Given the description of an element on the screen output the (x, y) to click on. 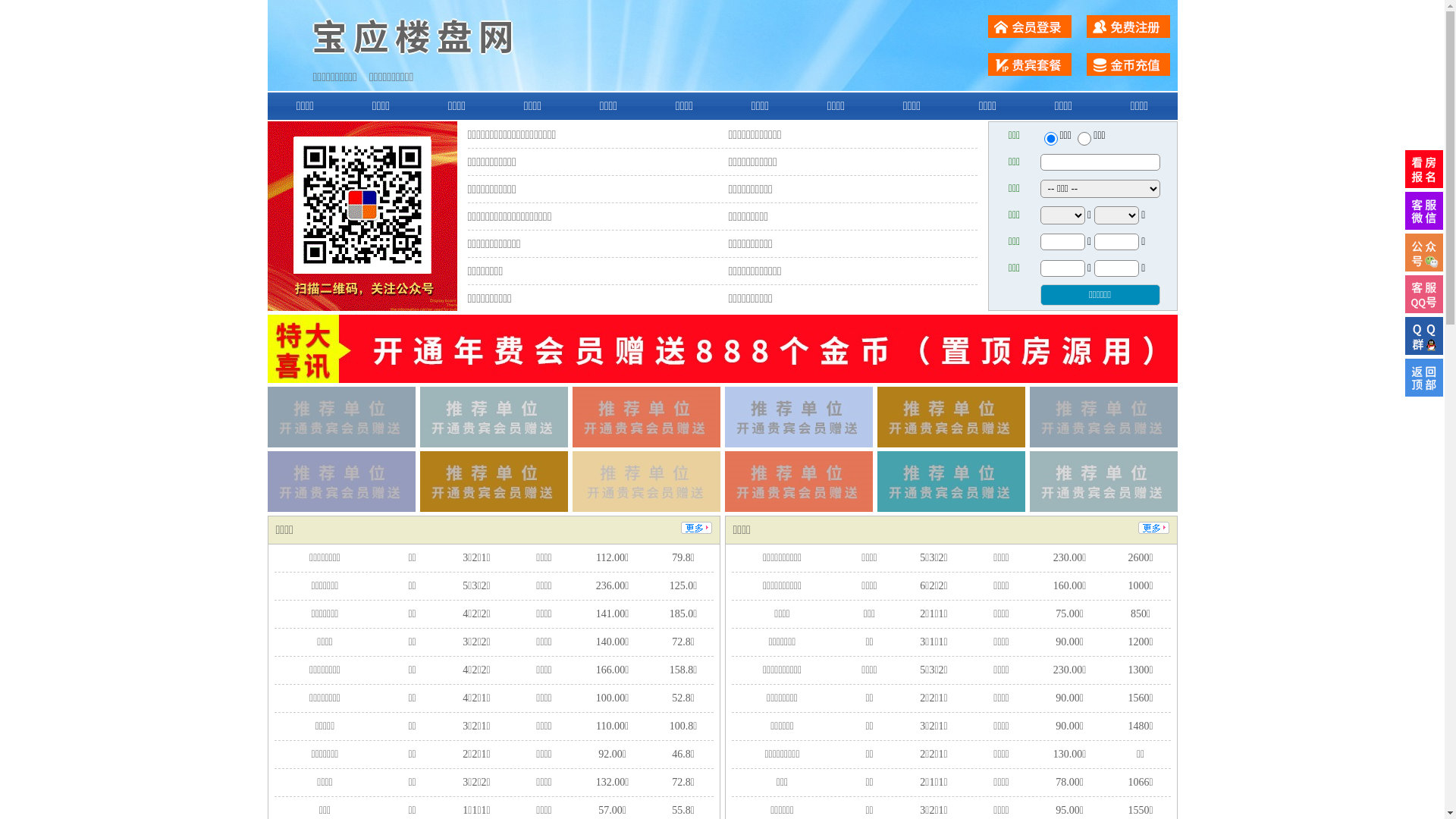
ershou Element type: text (1050, 138)
chuzu Element type: text (1084, 138)
